Given the description of an element on the screen output the (x, y) to click on. 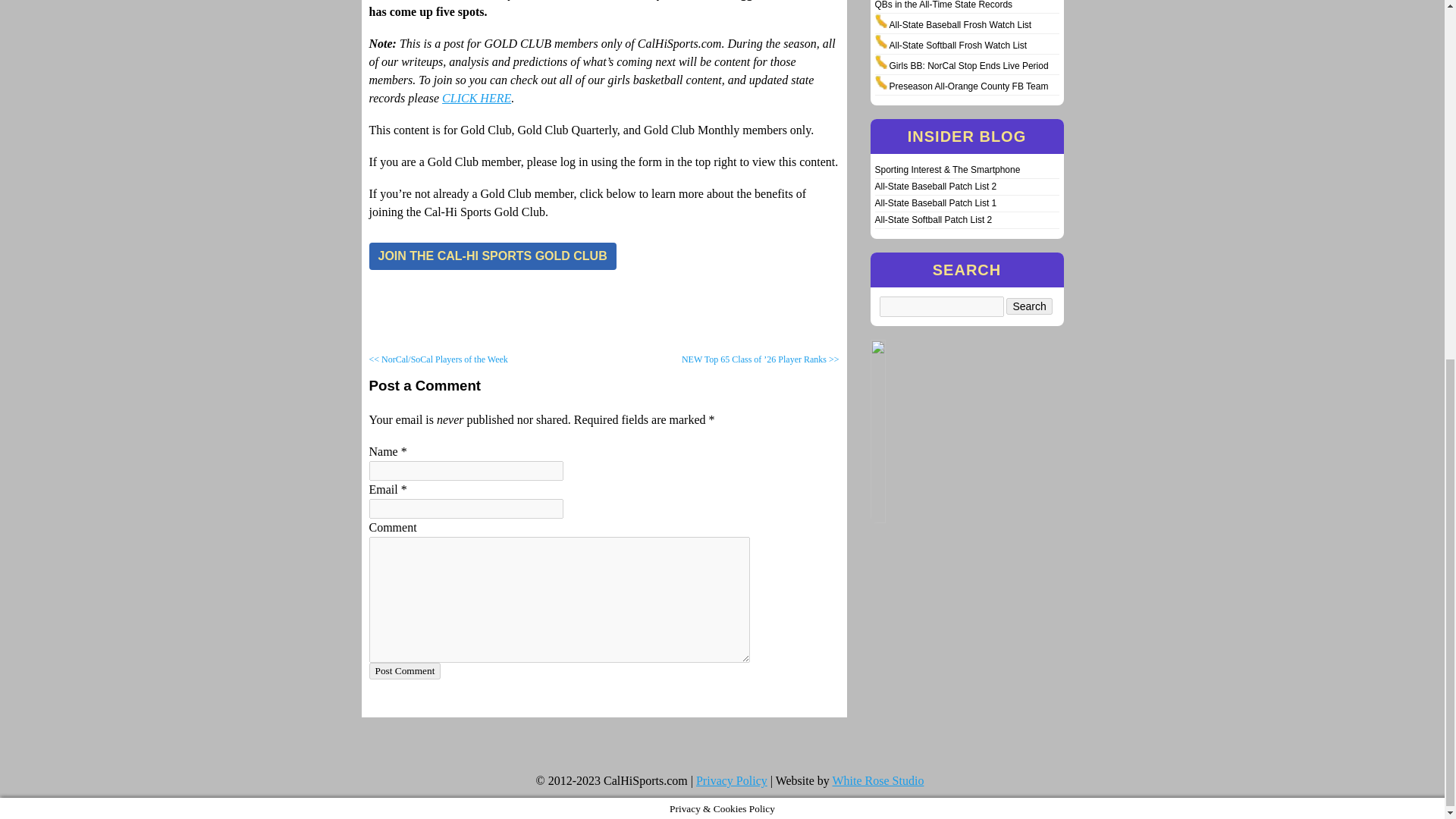
Permalink to Preseason All-Orange County FB Team (968, 86)
Permalink to All-State Baseball Patch List 2 (936, 185)
Permalink to Girls BB: NorCal Stop Ends Live Period (968, 65)
Permalink to All-State Softball Patch List 2 (933, 219)
Permalink to QBs in the All-Time State Records (944, 4)
Permalink to All-State Baseball Patch List 1 (936, 203)
Permalink to All-State Softball Frosh Watch List (957, 45)
Post Comment (404, 670)
Search (1028, 306)
Permalink to All-State Baseball Frosh Watch List (959, 24)
